Given the description of an element on the screen output the (x, y) to click on. 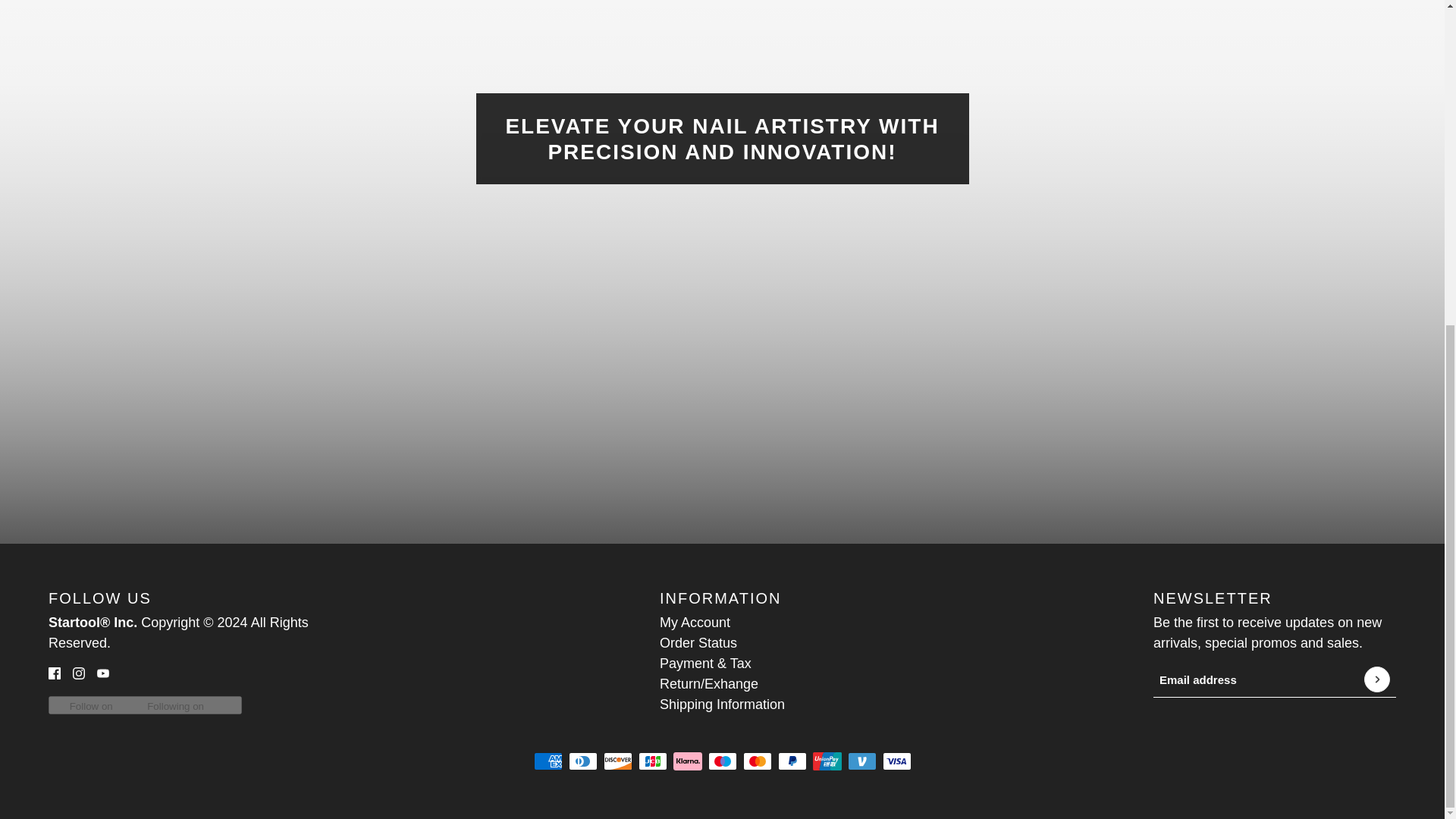
Shipping Information (721, 703)
Order Status (697, 642)
Shipping Information (721, 703)
Order Status (697, 642)
My Account (694, 622)
My Account (694, 622)
